Given the description of an element on the screen output the (x, y) to click on. 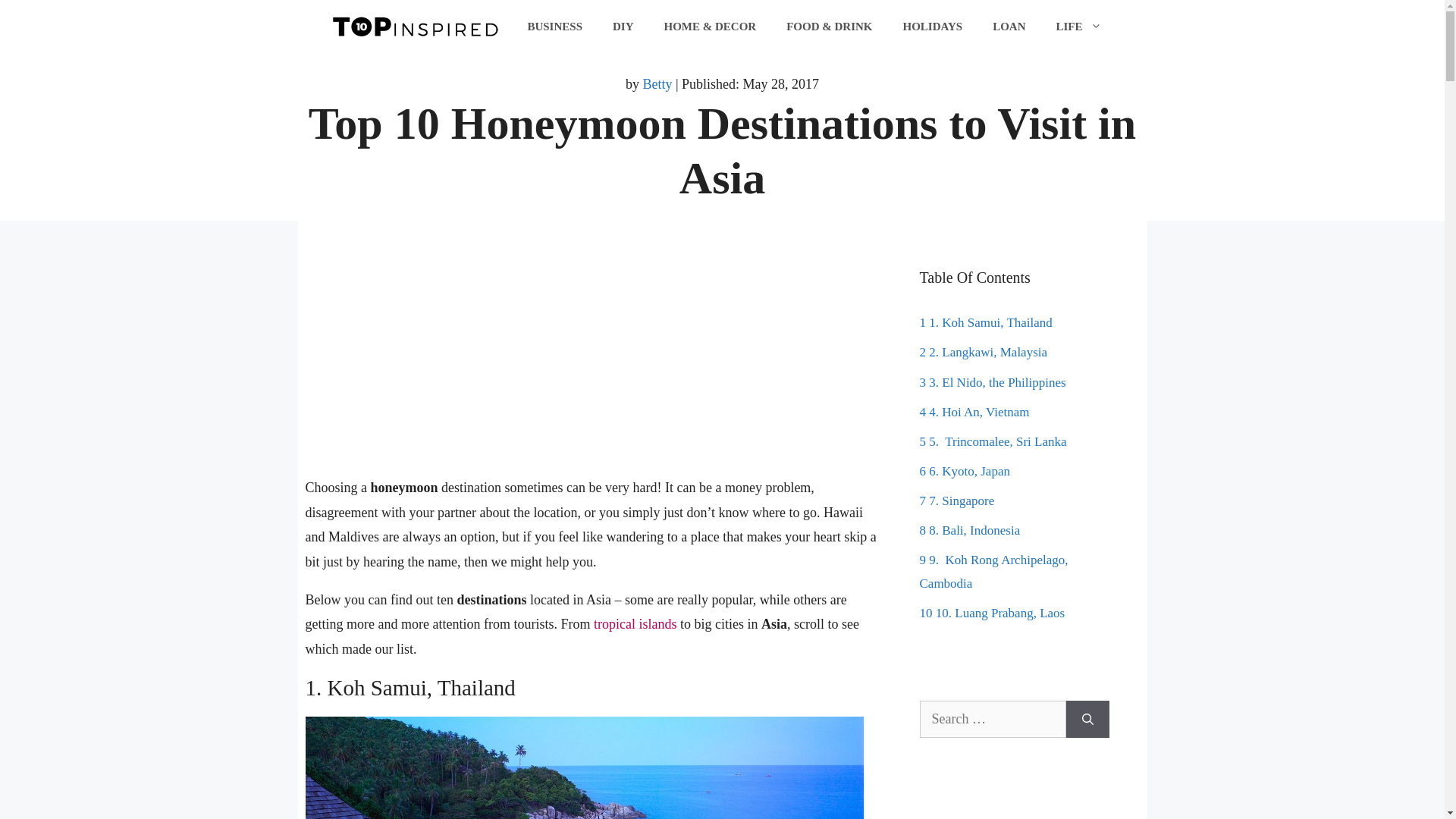
1 1. Koh Samui, Thailand (984, 322)
Advertisement (592, 368)
Top Inspired (414, 26)
tropical islands (635, 623)
LOAN (1008, 26)
Koh-Samui (583, 767)
Betty (656, 83)
HOLIDAYS (931, 26)
2 2. Langkawi, Malaysia (982, 351)
8 8. Bali, Indonesia (969, 530)
7 7. Singapore (956, 500)
5 5.  Trincomalee, Sri Lanka (991, 441)
4 4. Hoi An, Vietnam (973, 411)
3 3. El Nido, the Philippines (991, 382)
DIY (622, 26)
